Given the description of an element on the screen output the (x, y) to click on. 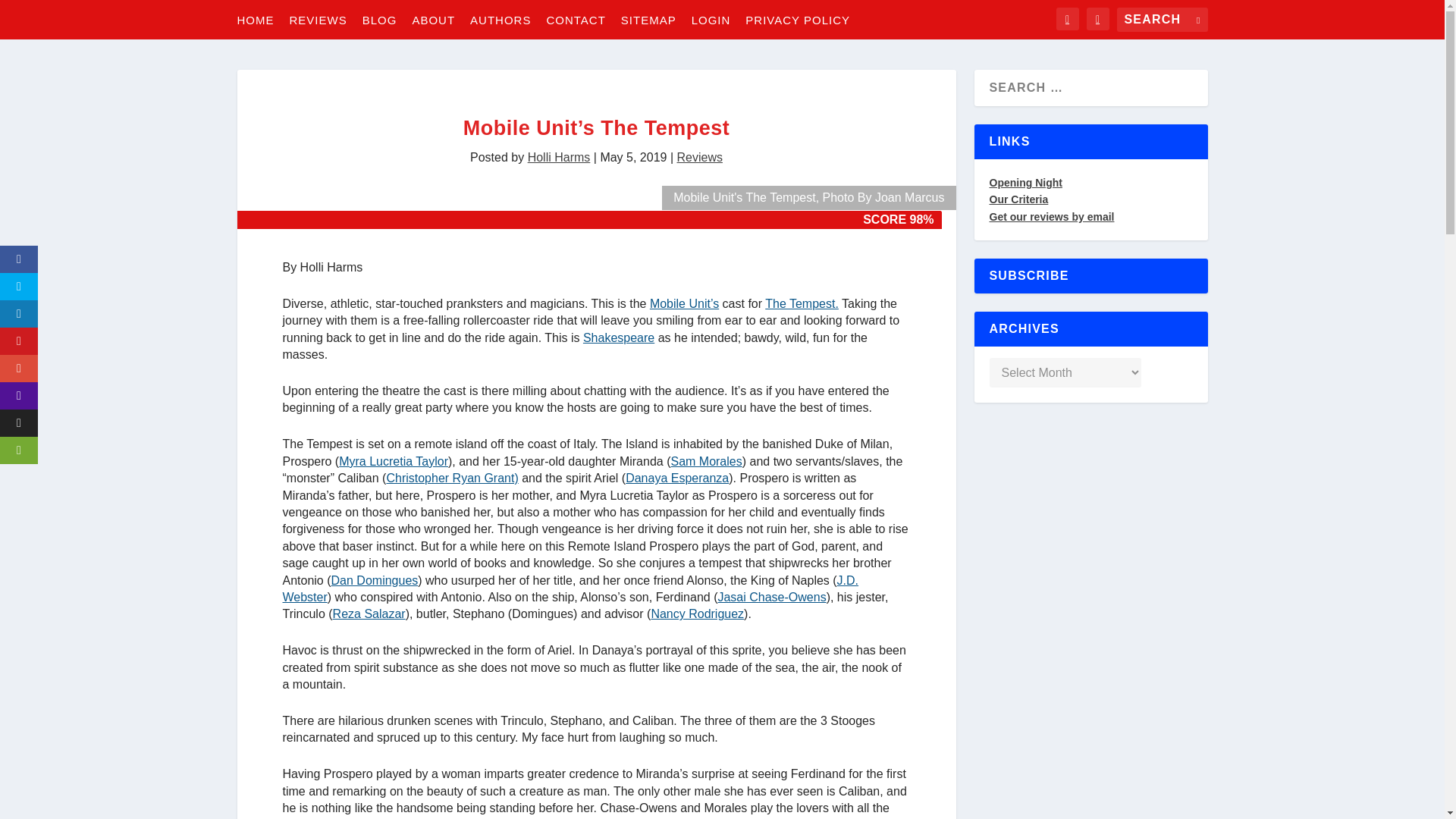
REVIEWS (318, 19)
The Tempest. (801, 303)
BLOG (379, 19)
Danaya Esperanza (677, 477)
Reza Salazar (369, 613)
SITEMAP (649, 19)
J.D. Webster (570, 588)
Posts by Holli Harms (559, 156)
LOGIN (710, 19)
AUTHORS (500, 19)
